Given the description of an element on the screen output the (x, y) to click on. 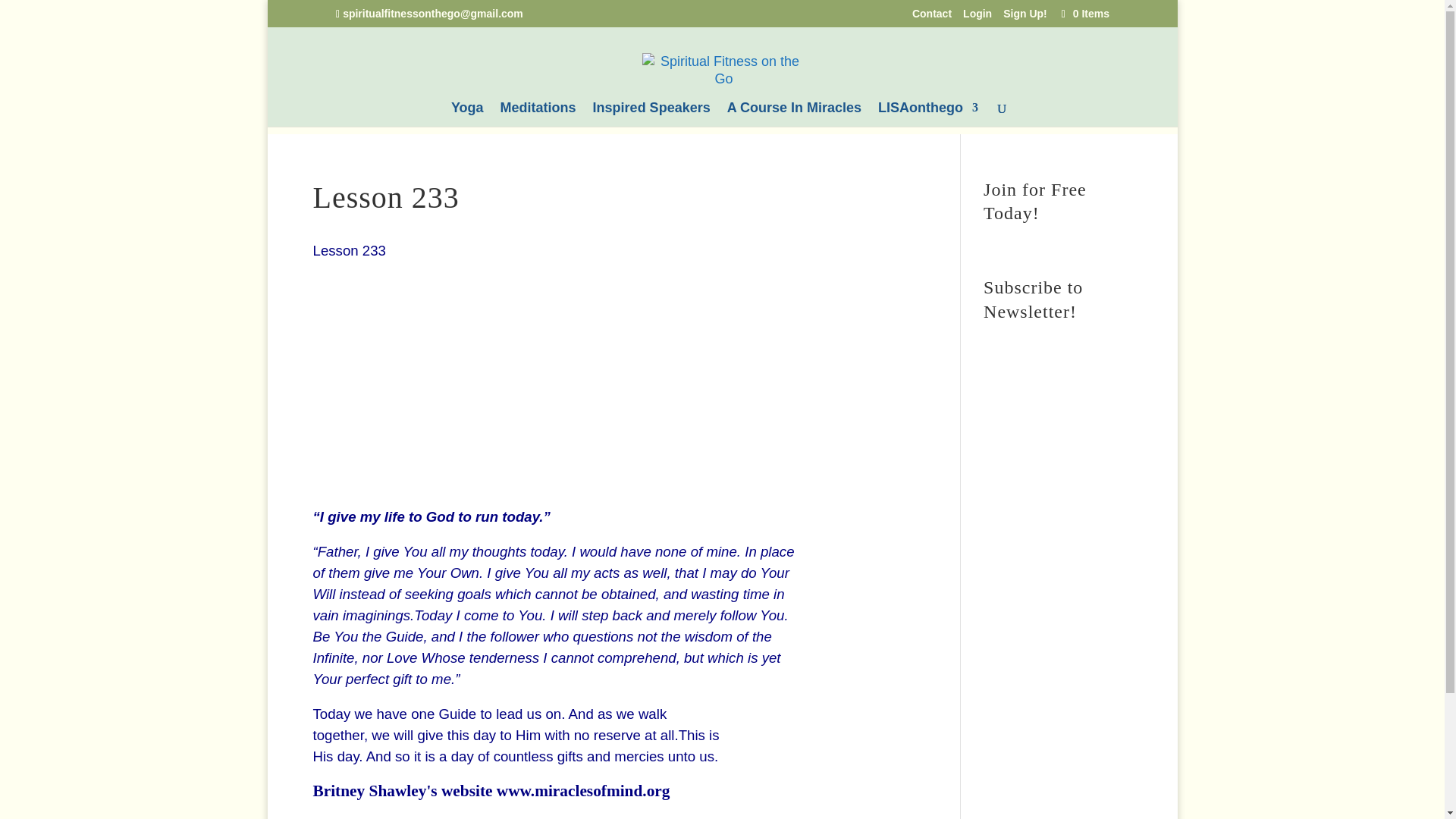
Yoga (467, 114)
A Course In Miracles (793, 114)
LISAonthego (927, 114)
Sign Up! (1024, 16)
Login (976, 16)
Inspired Speakers (651, 114)
0 Items (1083, 13)
Contact (930, 16)
Meditations (538, 114)
